Given the description of an element on the screen output the (x, y) to click on. 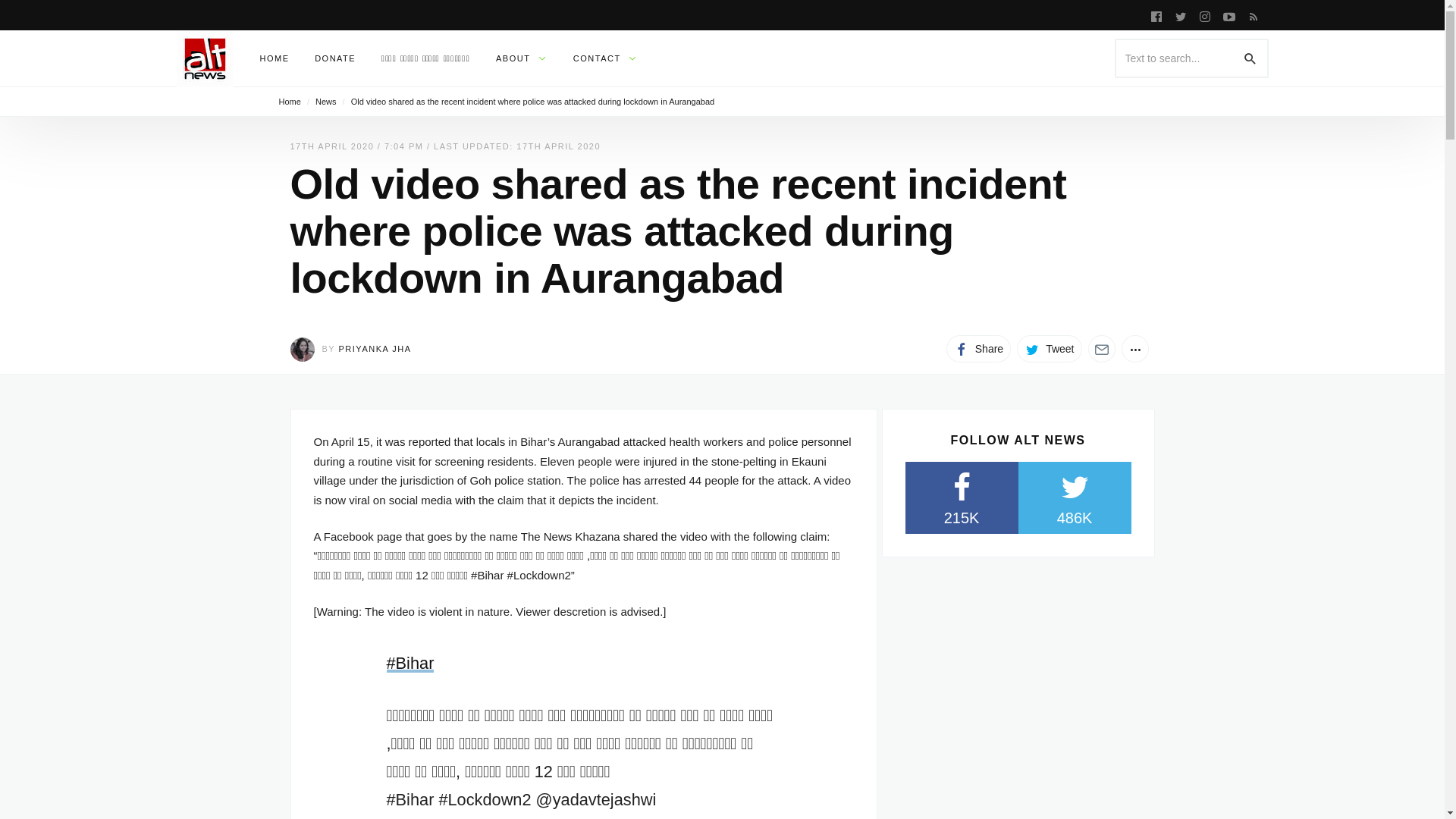
Search for: (1191, 57)
News (325, 101)
Share on Facebook (978, 348)
Share via Email (1101, 348)
Facebook (1155, 14)
Share on Twitter (1048, 348)
ABOUT (521, 58)
PRIYANKA JHA (375, 347)
CONTACT (605, 58)
Tweet (1048, 348)
YouTube (1228, 14)
Share (978, 348)
HOME (274, 58)
Twitter (1179, 14)
Instagram (1203, 14)
